Given the description of an element on the screen output the (x, y) to click on. 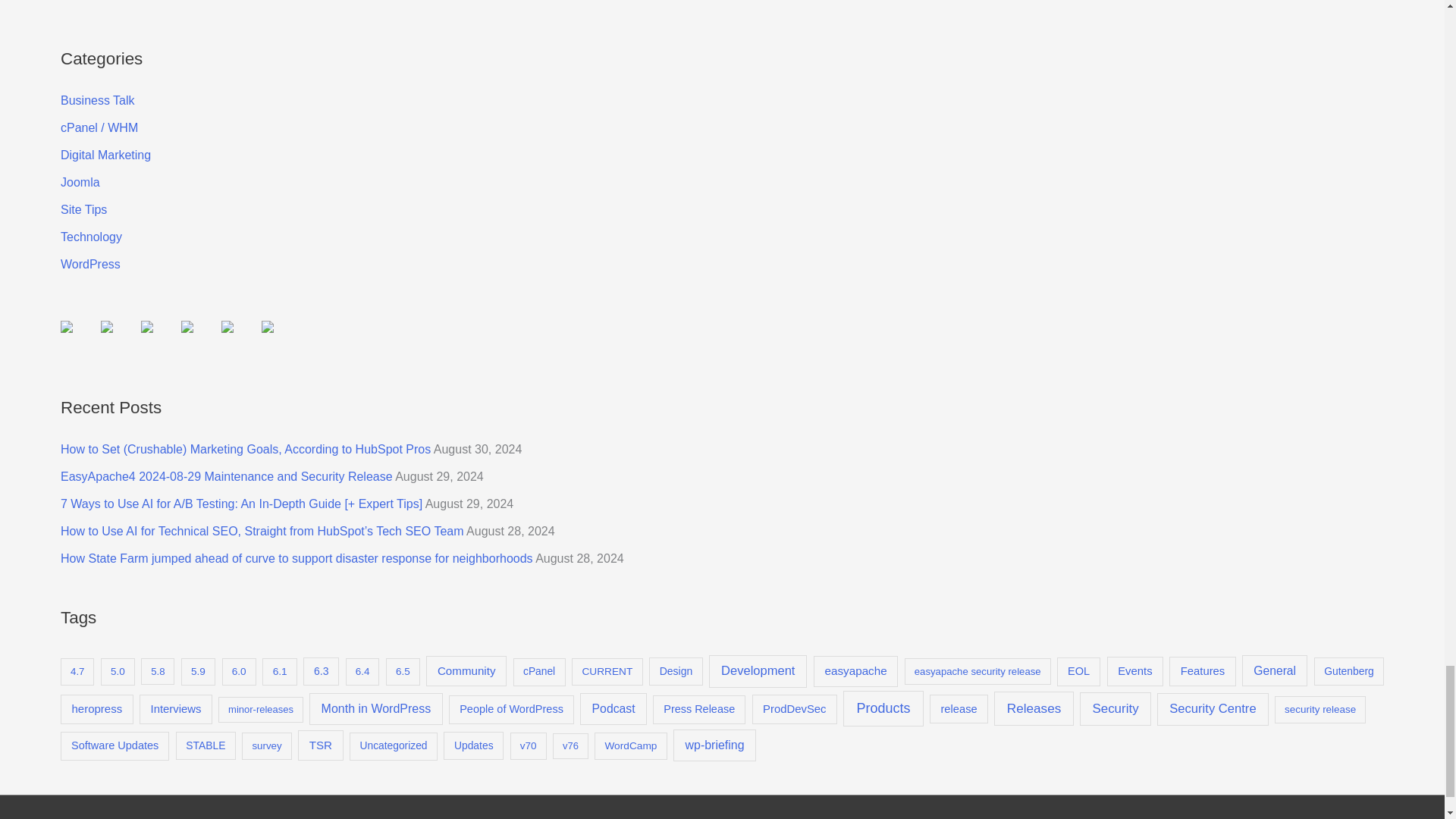
Joomla (80, 182)
Share on Facebook (79, 339)
Share on Twitter (118, 339)
Digital Marketing (106, 154)
Site Tips (83, 209)
Pin it with Pinterest (186, 326)
Share on Reddit (146, 326)
WordPress (90, 264)
Pin it with Pinterest (198, 339)
Share on Linkedin (239, 339)
